Given the description of an element on the screen output the (x, y) to click on. 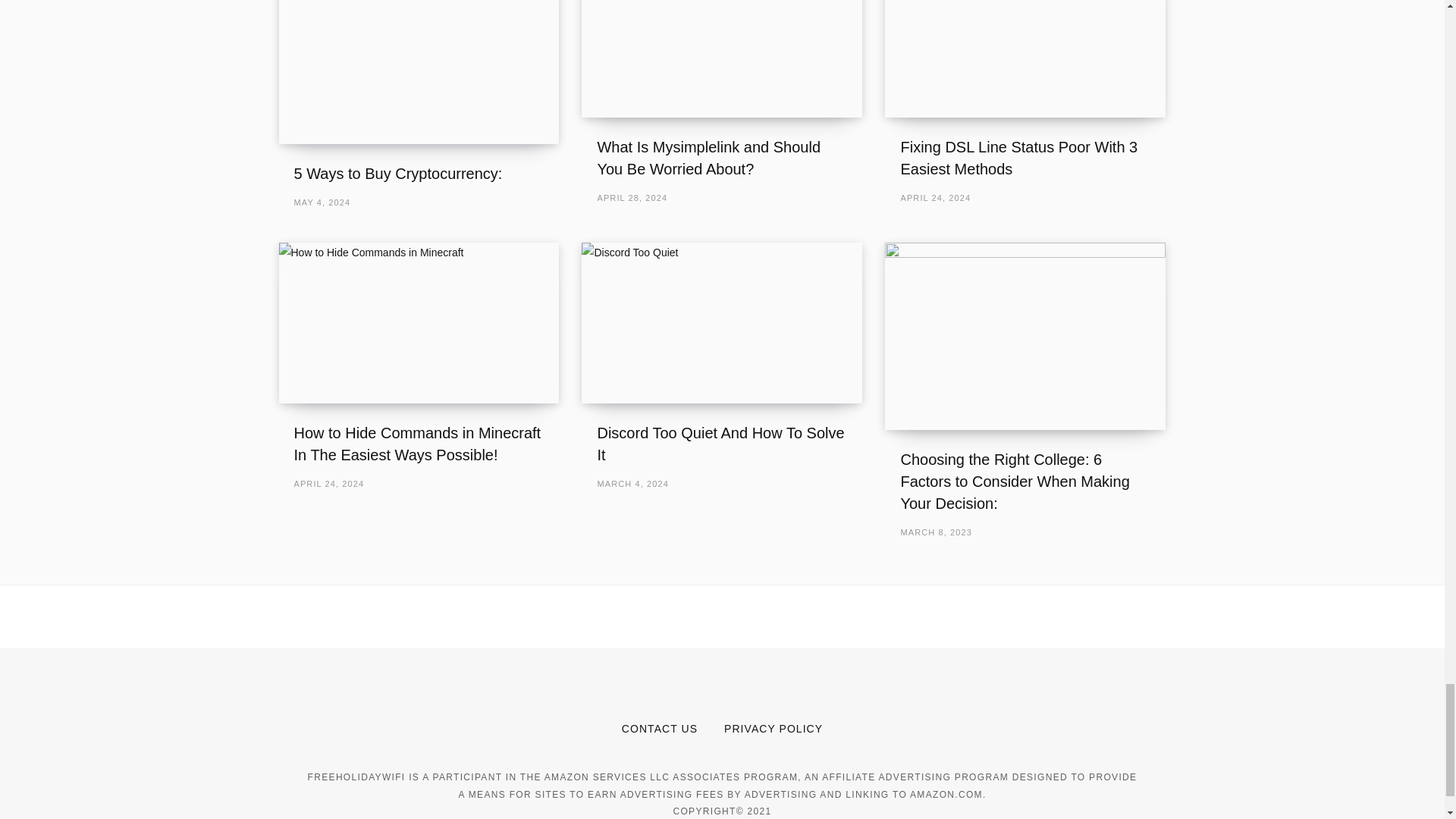
Discord Too Quiet And How To Solve It (720, 444)
Discord Too Quiet And How To Solve It (720, 322)
5 Ways to Buy Cryptocurrency: (398, 173)
What Is Mysimplelink and Should You Be Worried About? (708, 157)
Fixing DSL Line Status Poor With 3 Easiest Methods (1025, 58)
Fixing DSL Line Status Poor With 3 Easiest Methods (1018, 157)
What Is Mysimplelink and Should You Be Worried About? (720, 58)
5 Ways to Buy Cryptocurrency: (419, 71)
